Given the description of an element on the screen output the (x, y) to click on. 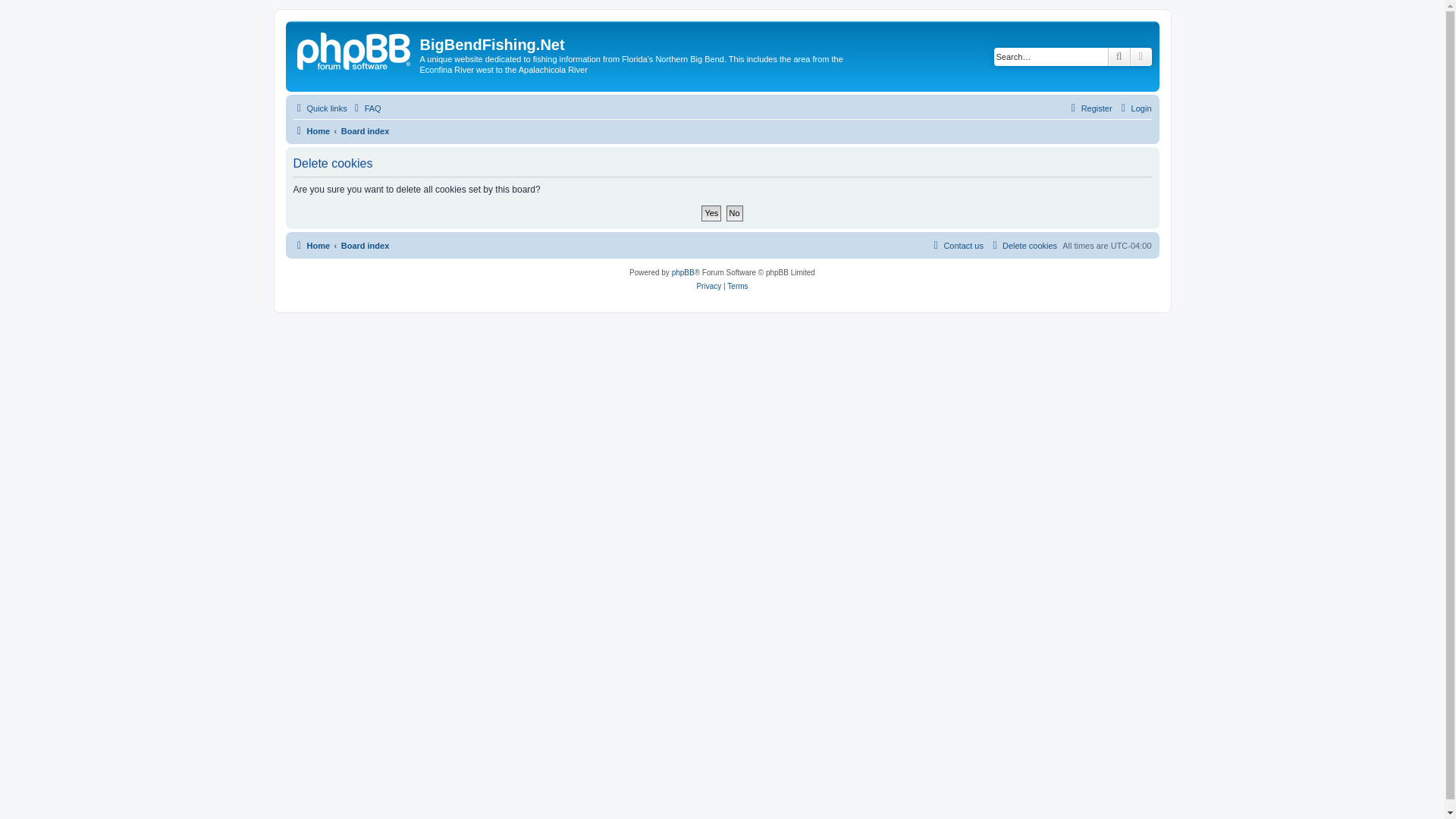
Advanced search (1141, 56)
phpBB (682, 273)
Register (1089, 108)
Login (1134, 108)
Home (311, 131)
Home (354, 49)
Login (1134, 108)
Home (311, 245)
Search (1119, 56)
Contact us (957, 245)
